Given the description of an element on the screen output the (x, y) to click on. 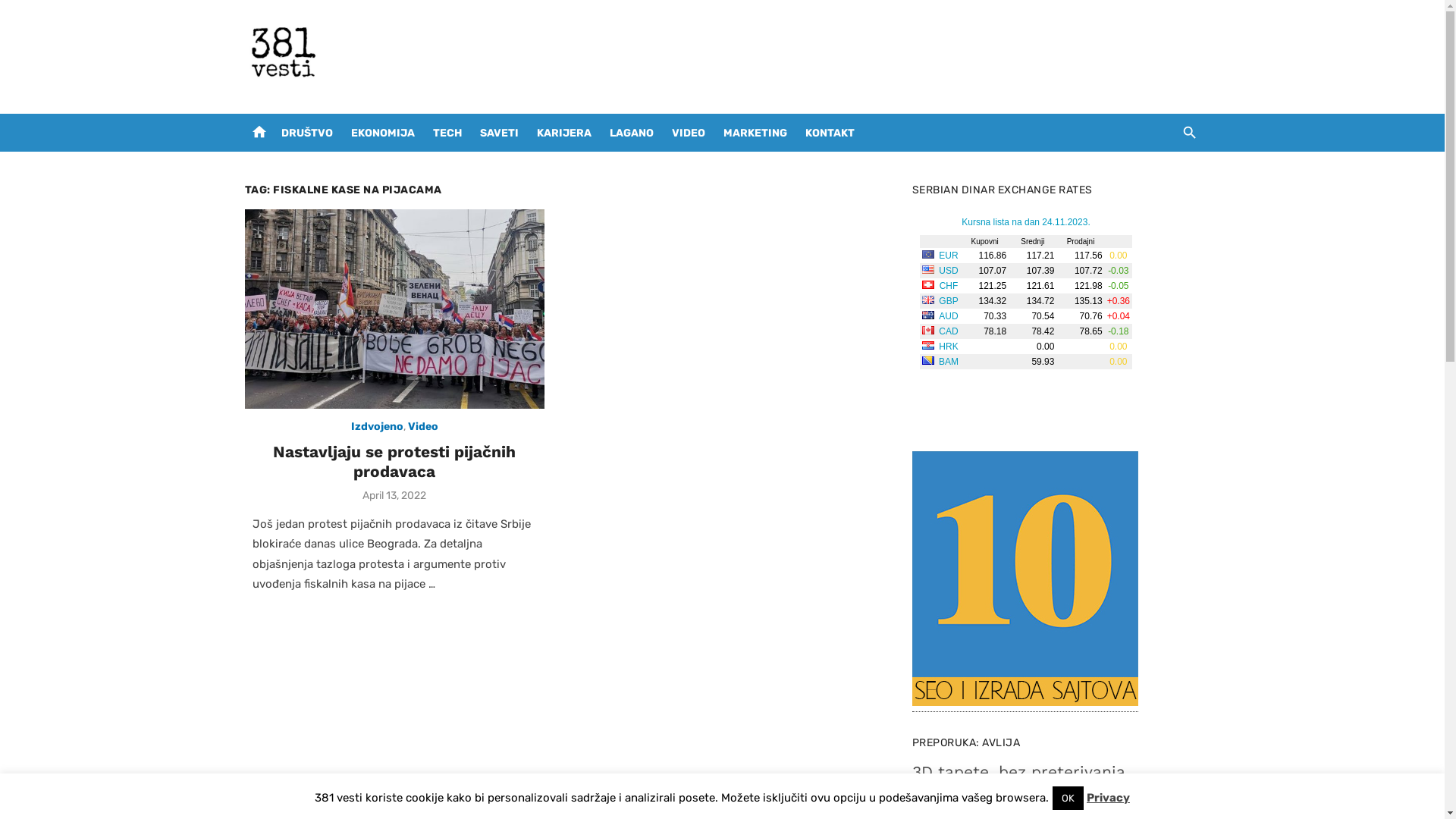
VIDEO Element type: text (688, 132)
3D tapete, bez preterivanja Element type: text (1017, 771)
TECH Element type: text (446, 132)
KARIJERA Element type: text (563, 132)
April 13, 2022 Element type: text (394, 495)
Privacy Element type: text (1107, 797)
MARKETING Element type: text (755, 132)
SAVETI Element type: text (498, 132)
Izdvojeno Element type: text (376, 426)
EKONOMIJA Element type: text (382, 132)
LAGANO Element type: text (631, 132)
KONTAKT Element type: text (829, 132)
OK Element type: text (1067, 797)
home Element type: text (258, 130)
Video Element type: text (422, 426)
